Given the description of an element on the screen output the (x, y) to click on. 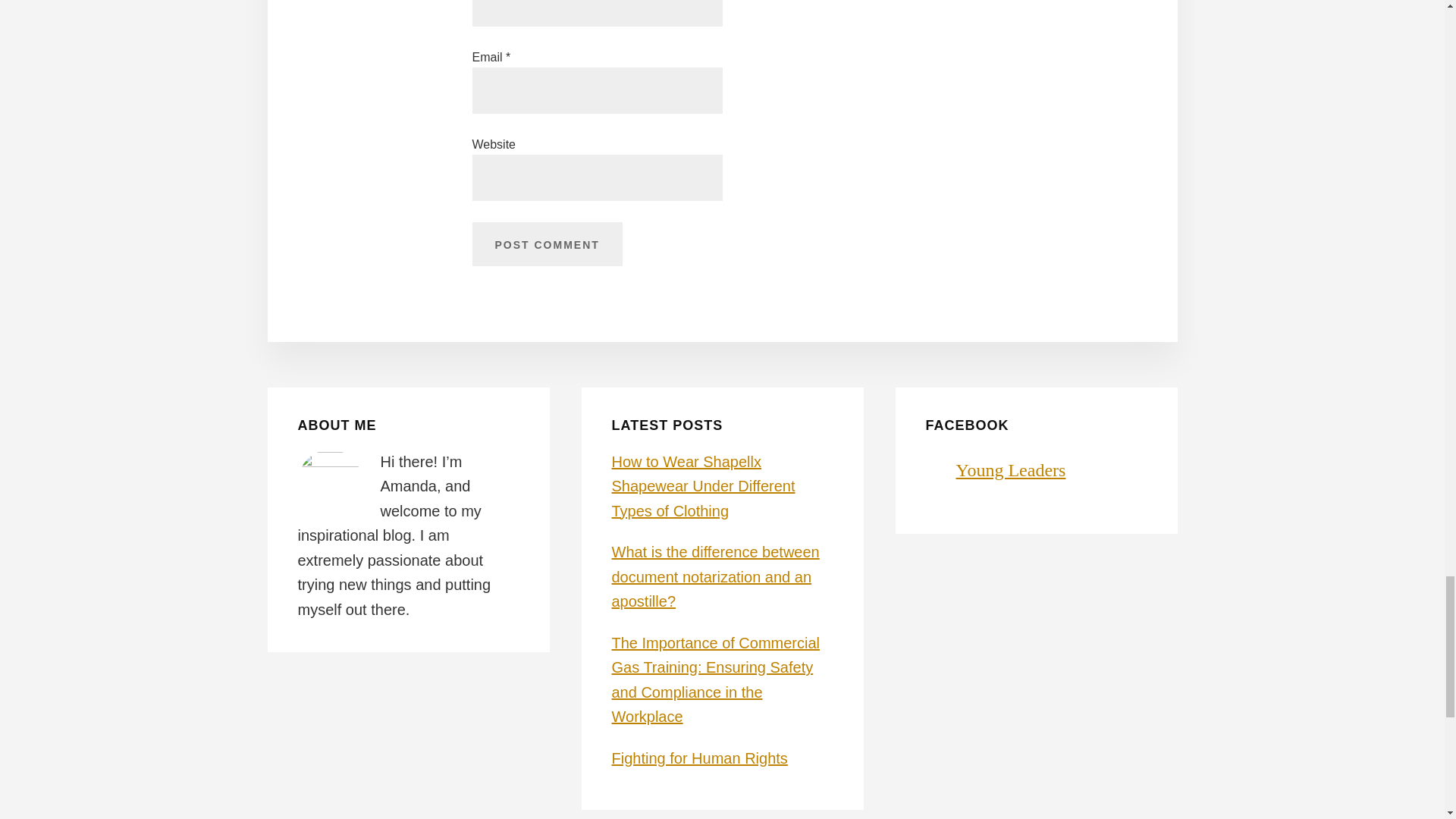
Young Leaders (1010, 469)
Post Comment (546, 243)
Post Comment (546, 243)
Fighting for Human Rights (699, 758)
